Given the description of an element on the screen output the (x, y) to click on. 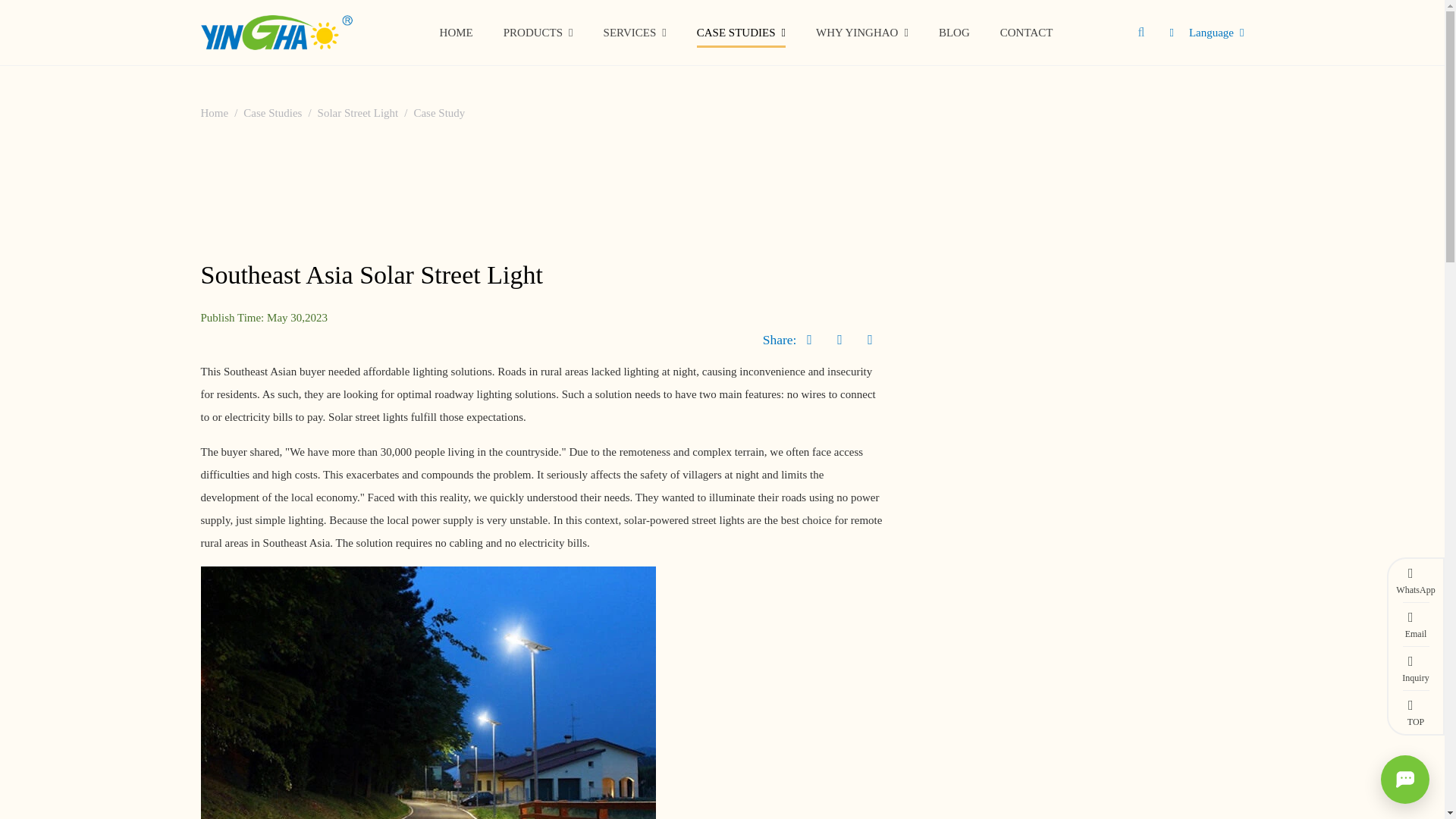
HOME (456, 32)
Language (1216, 31)
Open chat window (1404, 779)
PRODUCTS (746, 32)
